Given the description of an element on the screen output the (x, y) to click on. 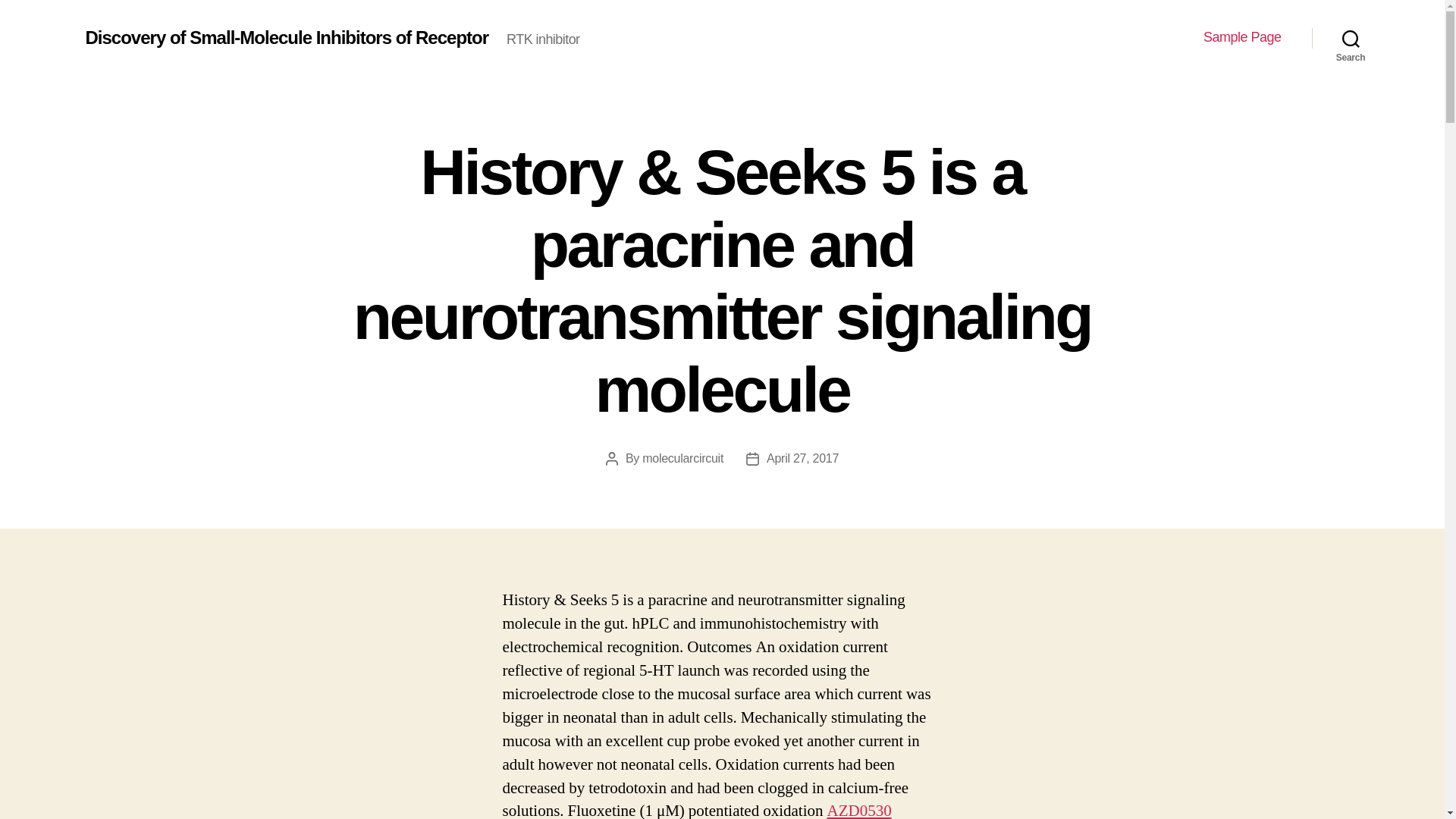
Discovery of Small-Molecule Inhibitors of Receptor (285, 37)
Sample Page (1242, 37)
molecularcircuit (682, 458)
April 27, 2017 (802, 458)
Search (1350, 37)
AZD0530 (859, 809)
